Given the description of an element on the screen output the (x, y) to click on. 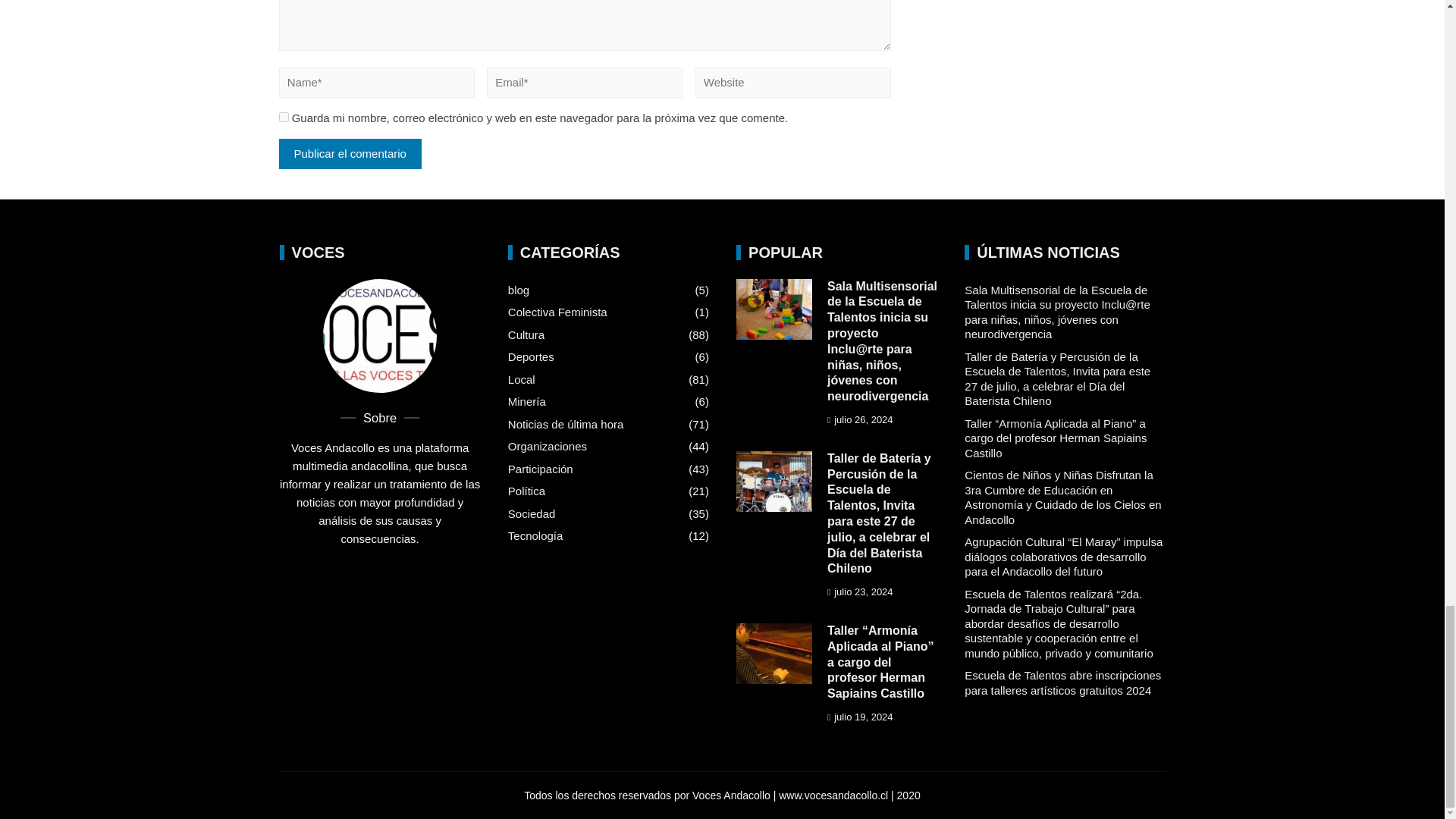
Publicar el comentario (350, 153)
Publicar el comentario (350, 153)
yes (283, 117)
